Given the description of an element on the screen output the (x, y) to click on. 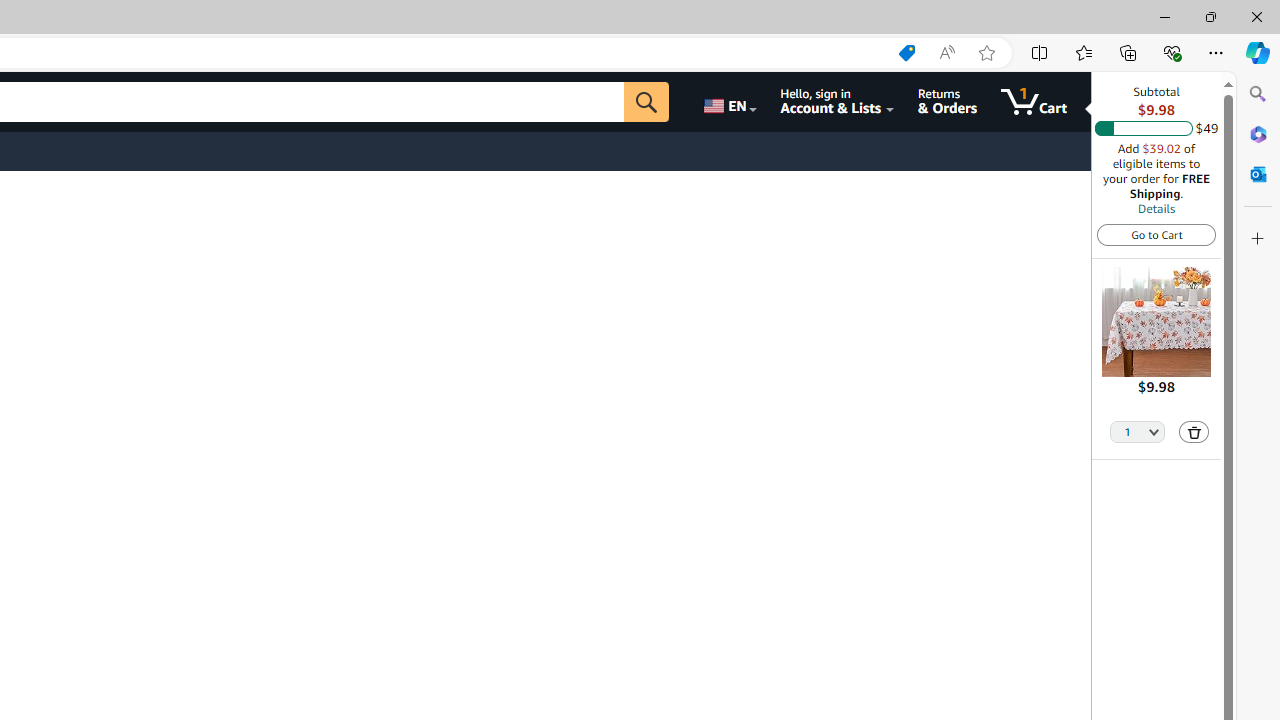
Delete (1193, 431)
1 item in cart (1034, 101)
Customize (1258, 239)
Shopping in Microsoft Edge (906, 53)
Details (1156, 208)
Settings and more (Alt+F) (1215, 52)
Choose a language for shopping. (728, 101)
Add this page to favorites (Ctrl+D) (986, 53)
Returns & Orders (946, 101)
Microsoft 365 (1258, 133)
Delete (1194, 431)
Hello, sign in Account & Lists (836, 101)
